Given the description of an element on the screen output the (x, y) to click on. 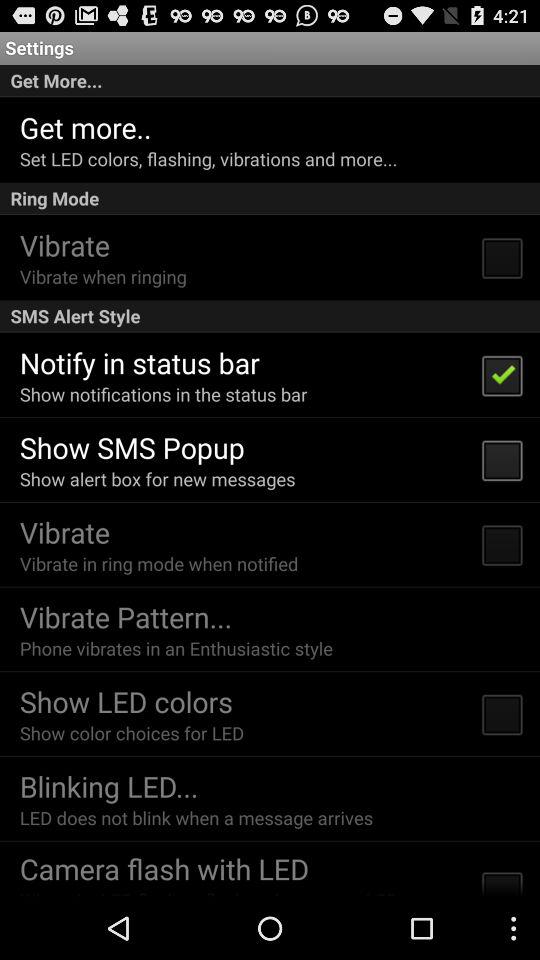
scroll until the vibrate in ring item (158, 563)
